Given the description of an element on the screen output the (x, y) to click on. 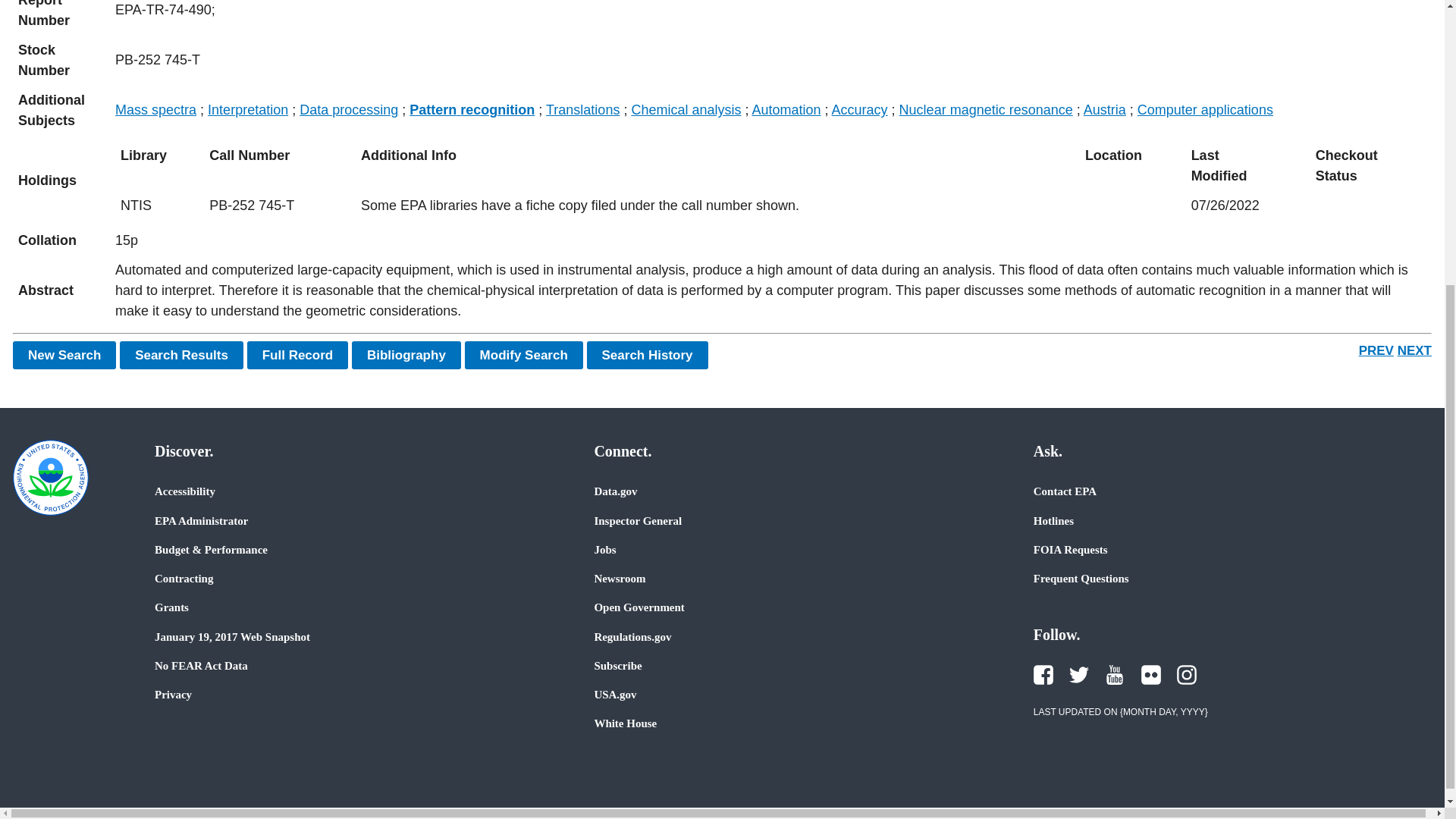
January 19, 2017 Web Snapshot (232, 636)
Display Full Record (298, 355)
full length text available by clicking full record (770, 290)
Computer applications (1204, 109)
Interpretation (248, 109)
Show results in standard format (181, 355)
NEXT (1414, 350)
Nuclear magnetic resonance (986, 109)
Grants (171, 607)
Modify Search (523, 355)
